Given the description of an element on the screen output the (x, y) to click on. 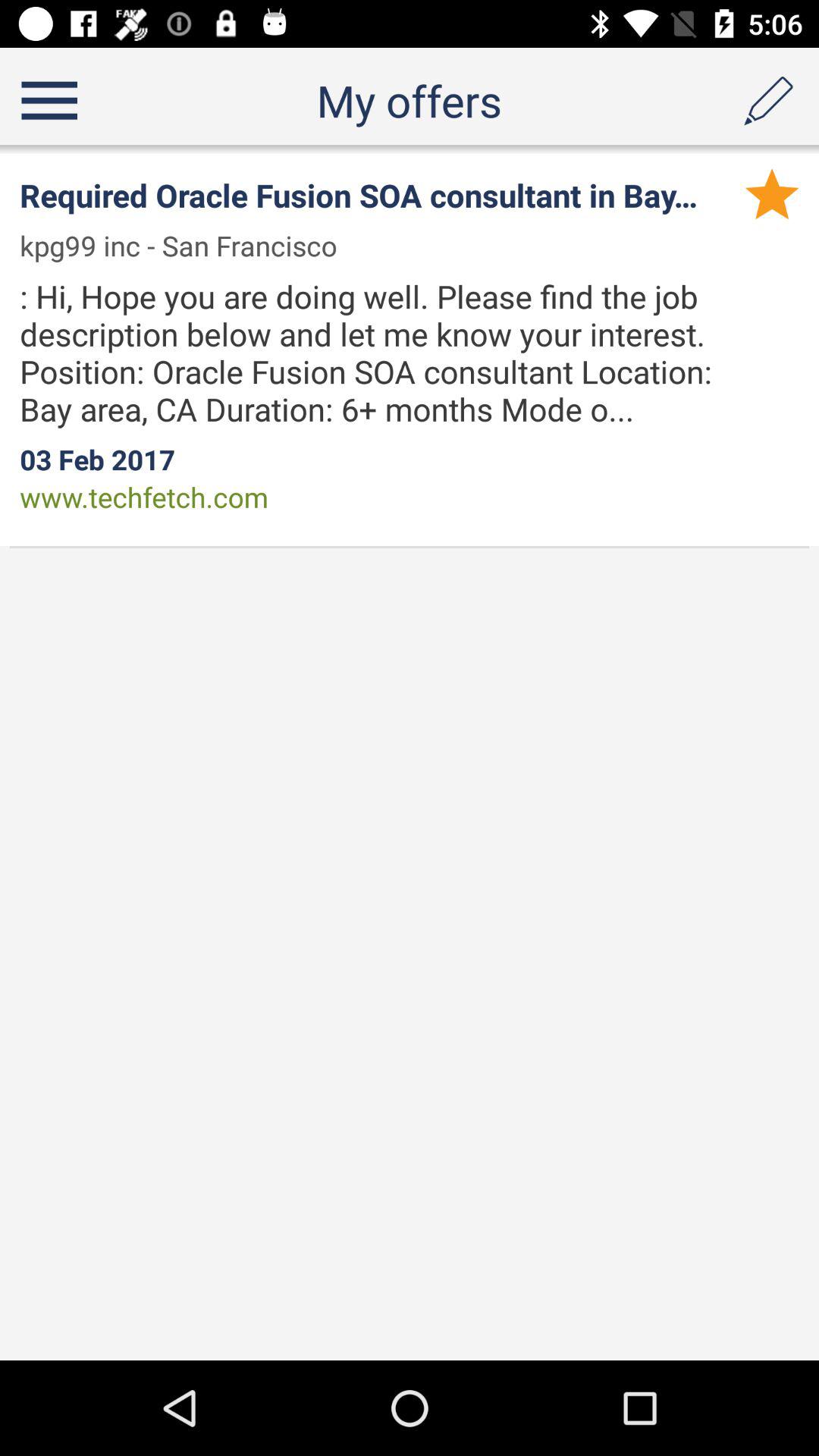
choose kpg99 inc san item (188, 245)
